Given the description of an element on the screen output the (x, y) to click on. 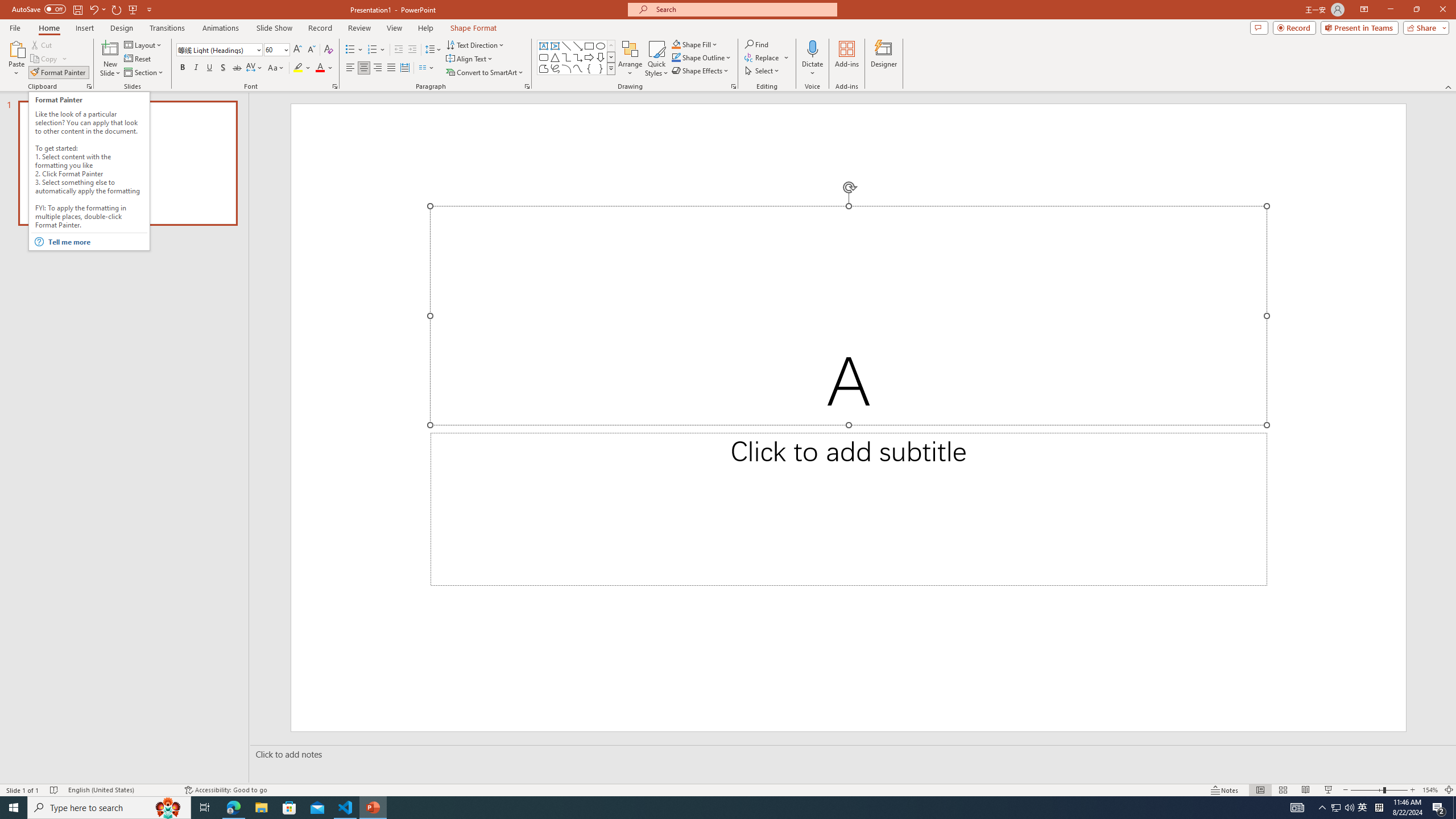
Office Clipboard... (88, 85)
Align Text (470, 58)
Arrow: Down (600, 57)
Arrow: Right (589, 57)
Font Color Red (320, 67)
Comments (1259, 27)
Cut (42, 44)
Strikethrough (237, 67)
New Slide (110, 58)
Collapse the Ribbon (1448, 86)
Zoom Out (1367, 790)
Zoom (1379, 790)
Slide Show (1328, 790)
Designer (883, 58)
Shape Format (473, 28)
